Given the description of an element on the screen output the (x, y) to click on. 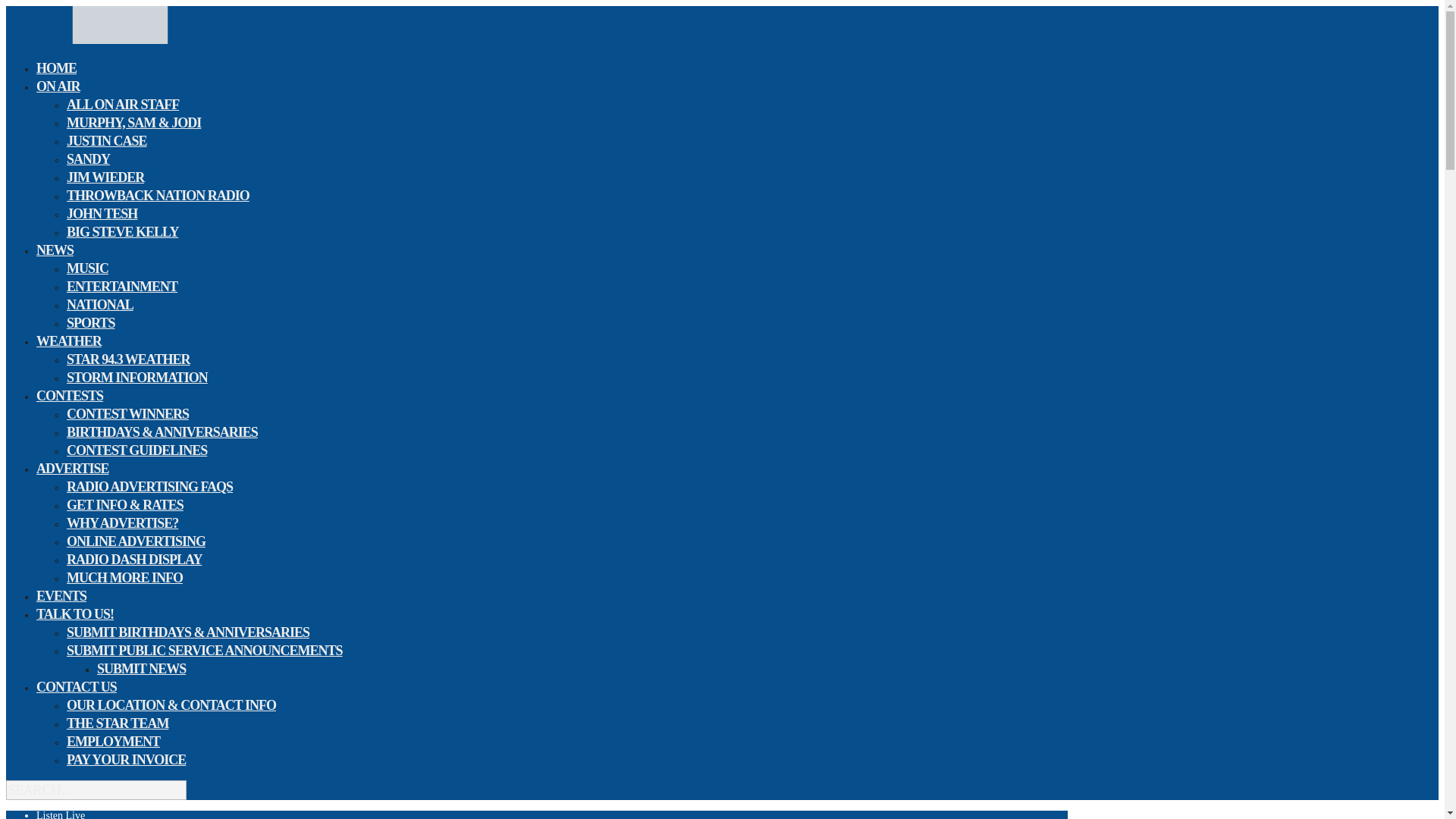
SUBMIT NEWS (141, 668)
CONTEST WINNERS (127, 414)
BIG STEVE KELLY (121, 231)
EVENTS (60, 595)
ON AIR (58, 86)
THROWBACK NATION RADIO (157, 195)
SUBMIT PUBLIC SERVICE ANNOUNCEMENTS (204, 649)
EMPLOYMENT (113, 741)
MUSIC (86, 268)
HOME (56, 67)
JOHN TESH (101, 213)
STORM INFORMATION (137, 377)
JUSTIN CASE (106, 140)
ENTERTAINMENT (121, 286)
THE STAR TEAM (117, 722)
